Given the description of an element on the screen output the (x, y) to click on. 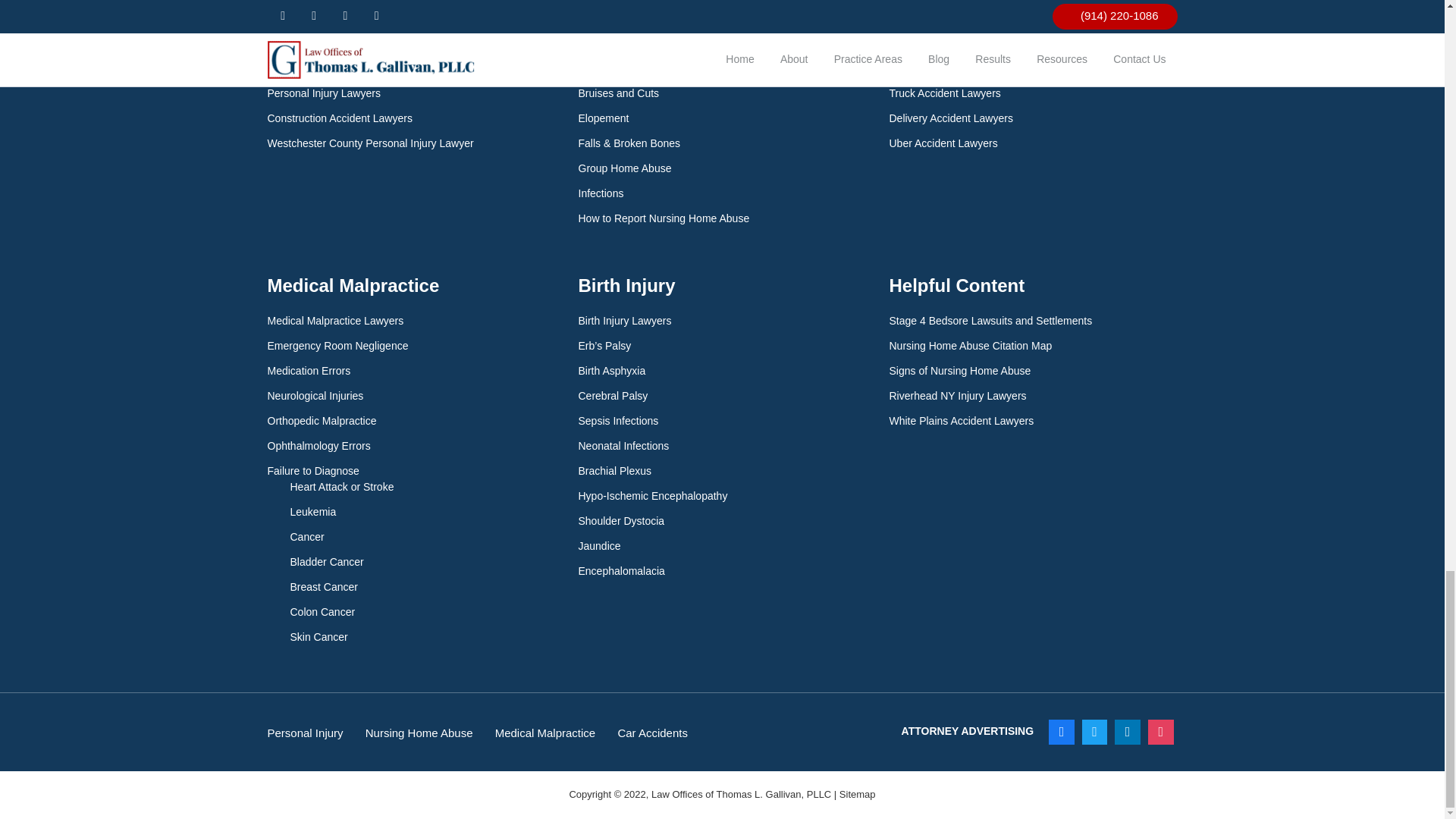
Twitter (1095, 732)
Instagram (1160, 732)
Facebook alt (1061, 732)
Linkedin (1127, 732)
